Given the description of an element on the screen output the (x, y) to click on. 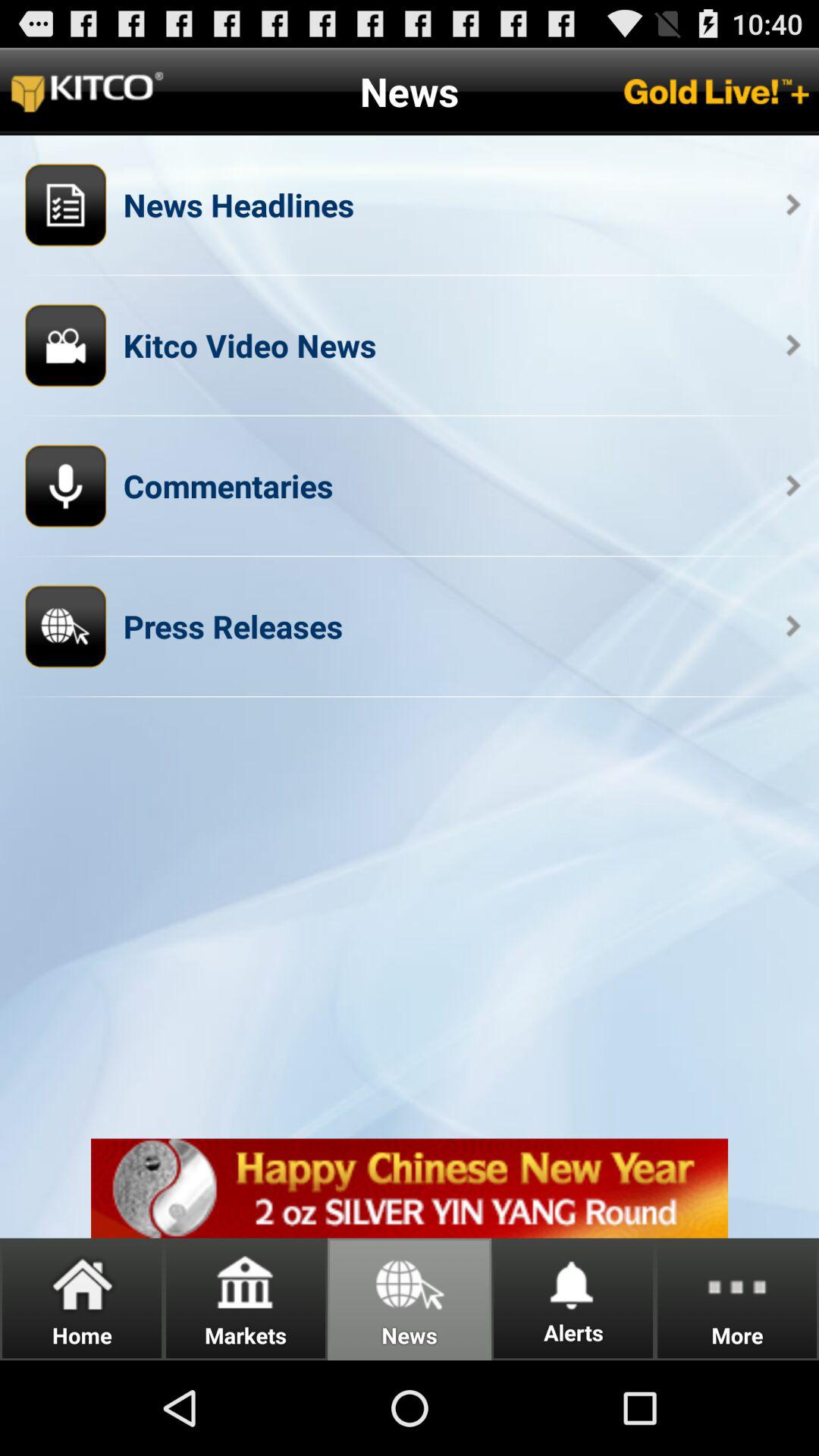
add the option (409, 1188)
